Given the description of an element on the screen output the (x, y) to click on. 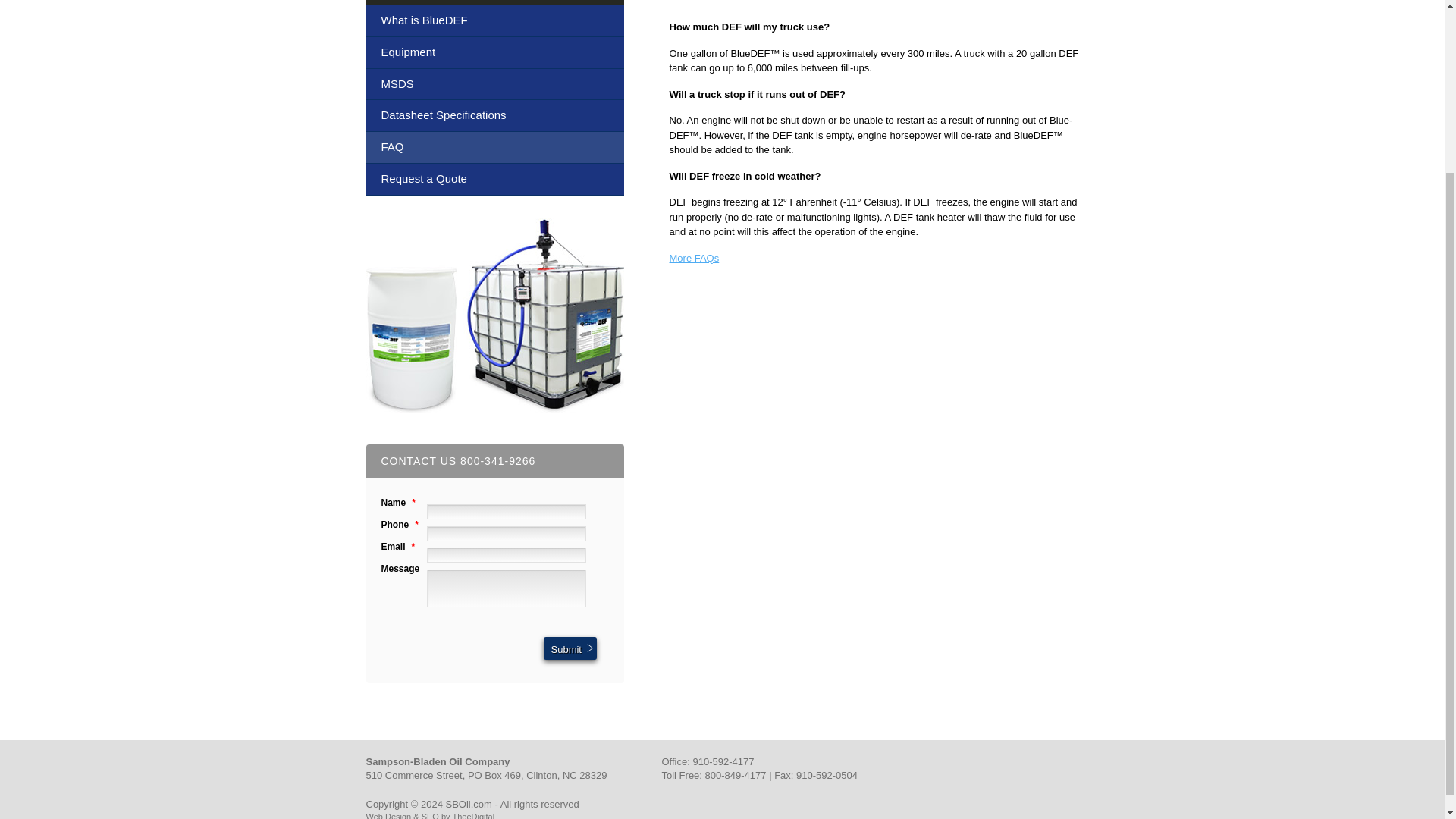
Datasheet Specifications (494, 115)
MSDS (494, 84)
What is BlueDEF (494, 20)
Submit (569, 648)
More FAQs (693, 257)
Request a Quote (494, 179)
Equipment (494, 52)
FAQ (494, 147)
Submit (569, 648)
